Given the description of an element on the screen output the (x, y) to click on. 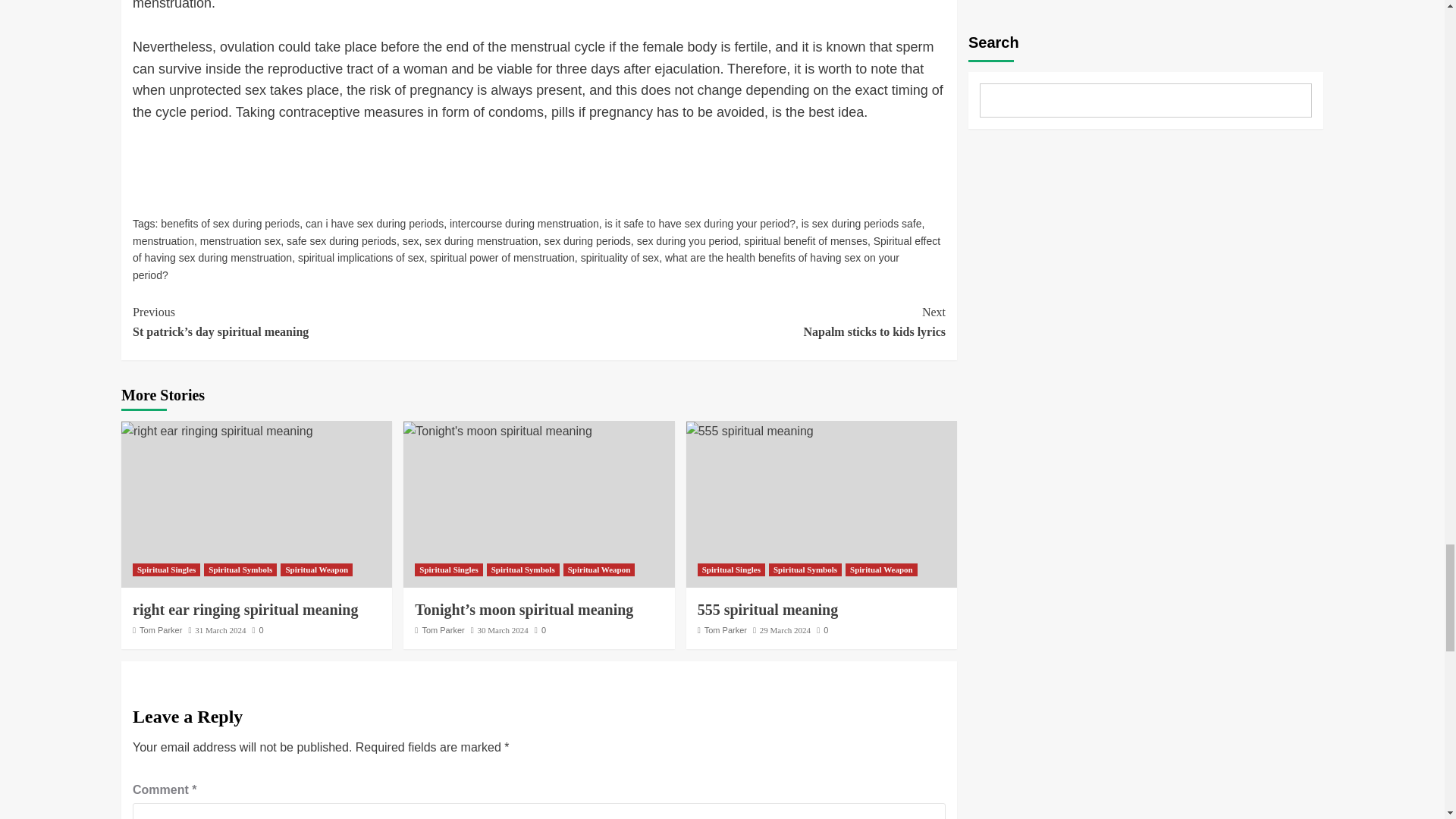
safe sex during periods (341, 241)
menstruation sex (240, 241)
Spiritual Singles (166, 569)
can i have sex during periods (374, 223)
menstruation (162, 241)
is it safe to have sex during your period? (699, 223)
spiritual implications of sex (361, 257)
intercourse during menstruation (523, 223)
spiritual power of menstruation (502, 257)
spirituality of sex (619, 257)
Spiritual effect of having sex during menstruation (536, 249)
sex during menstruation (481, 241)
sex during periods (586, 241)
benefits of sex during periods (229, 223)
